Given the description of an element on the screen output the (x, y) to click on. 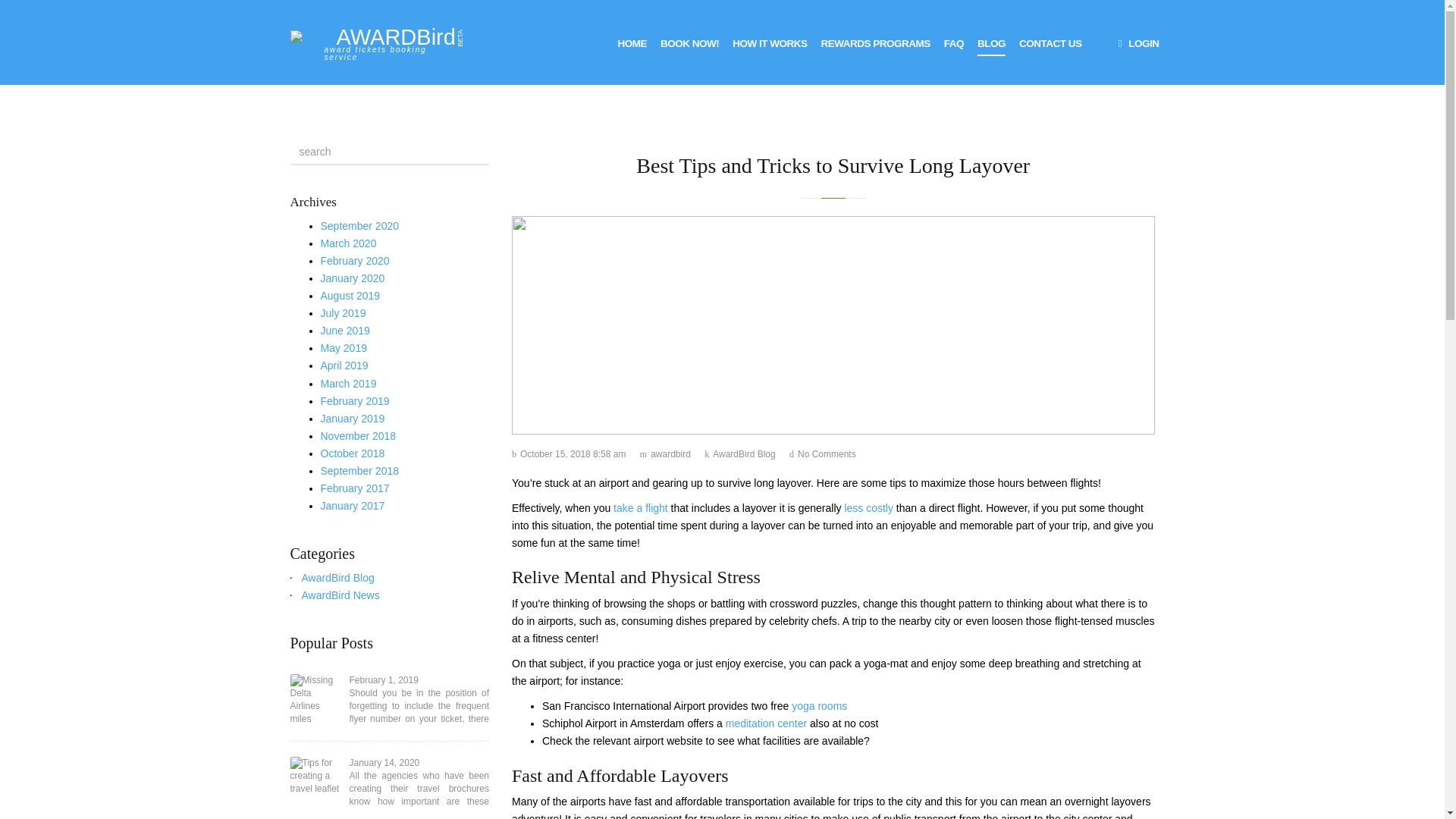
September 2020 (359, 225)
September 2018 (359, 470)
REWARDS PROGRAMS (875, 42)
HOME (632, 42)
June 2019 (344, 330)
February 2020 (354, 260)
November 2018 (358, 435)
BLOG (991, 42)
October 15, 2018 8:58 am (569, 453)
